Given the description of an element on the screen output the (x, y) to click on. 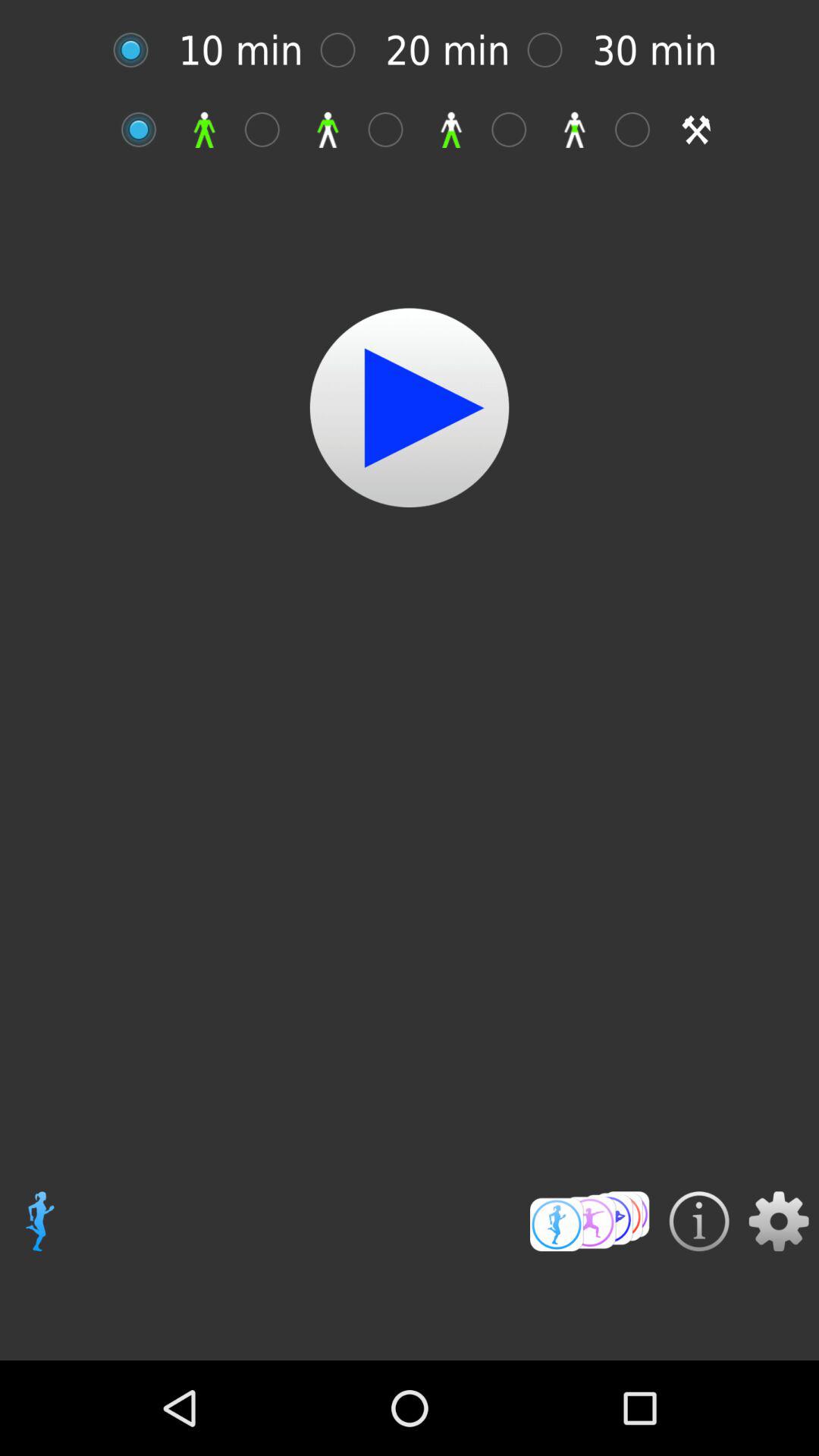
selecting box (393, 129)
